Given the description of an element on the screen output the (x, y) to click on. 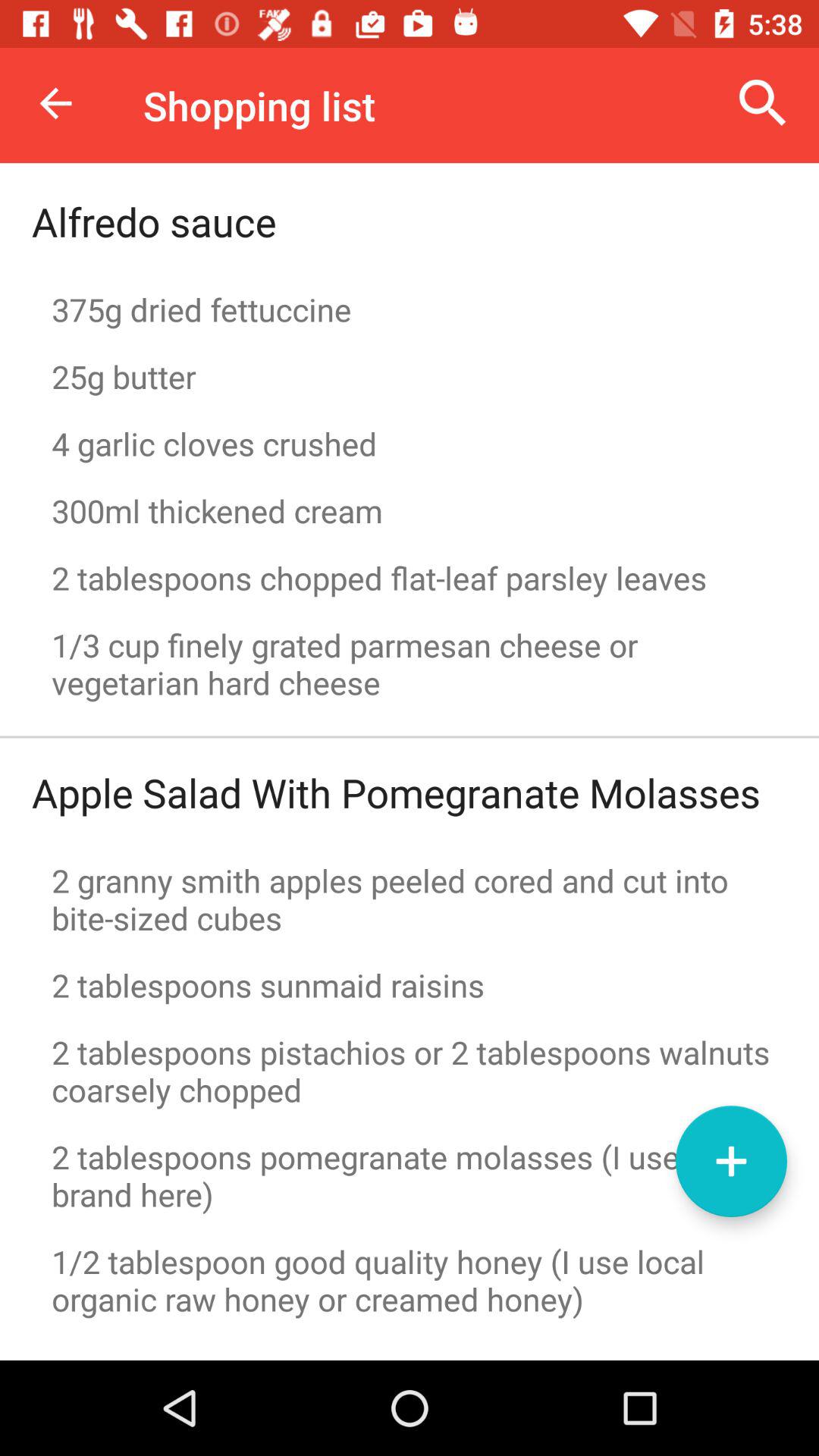
scroll until 375g dried fettuccine item (409, 308)
